Given the description of an element on the screen output the (x, y) to click on. 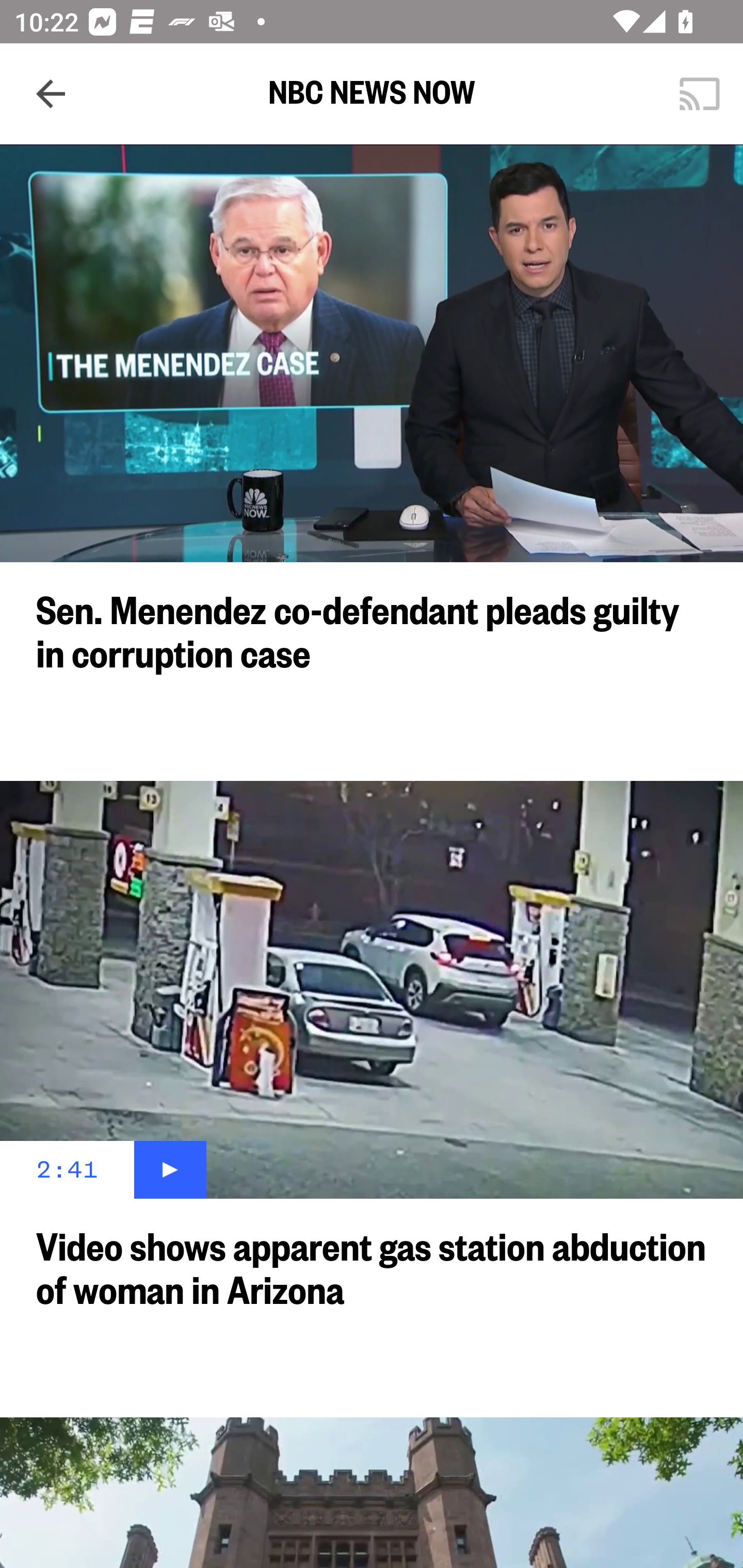
Navigate up (50, 93)
Cast. Disconnected (699, 93)
